Given the description of an element on the screen output the (x, y) to click on. 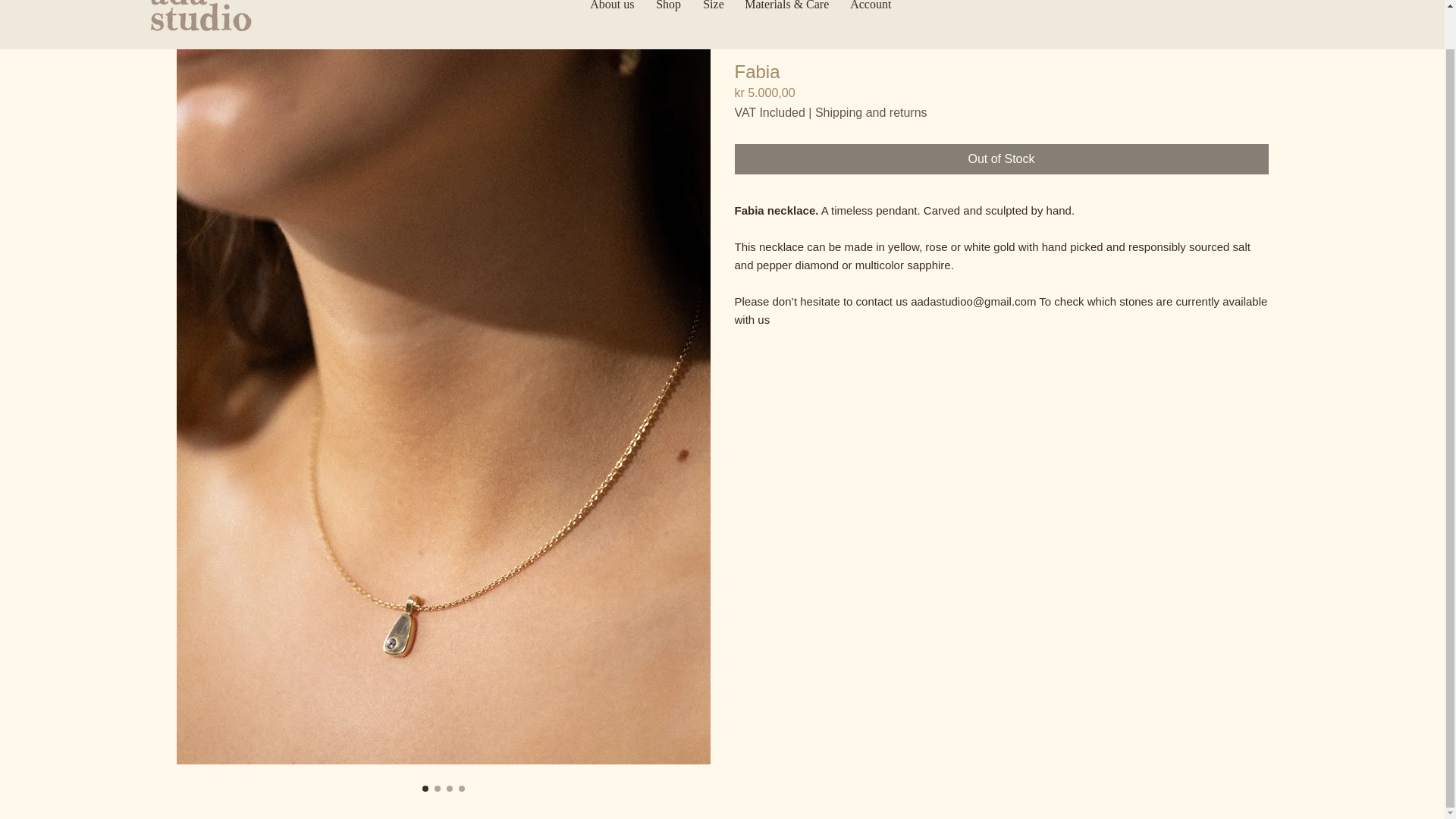
Shipping and returns (871, 112)
Shop (668, 13)
Out of Stock (1000, 159)
Size (712, 13)
Account (870, 13)
About us (611, 13)
